Given the description of an element on the screen output the (x, y) to click on. 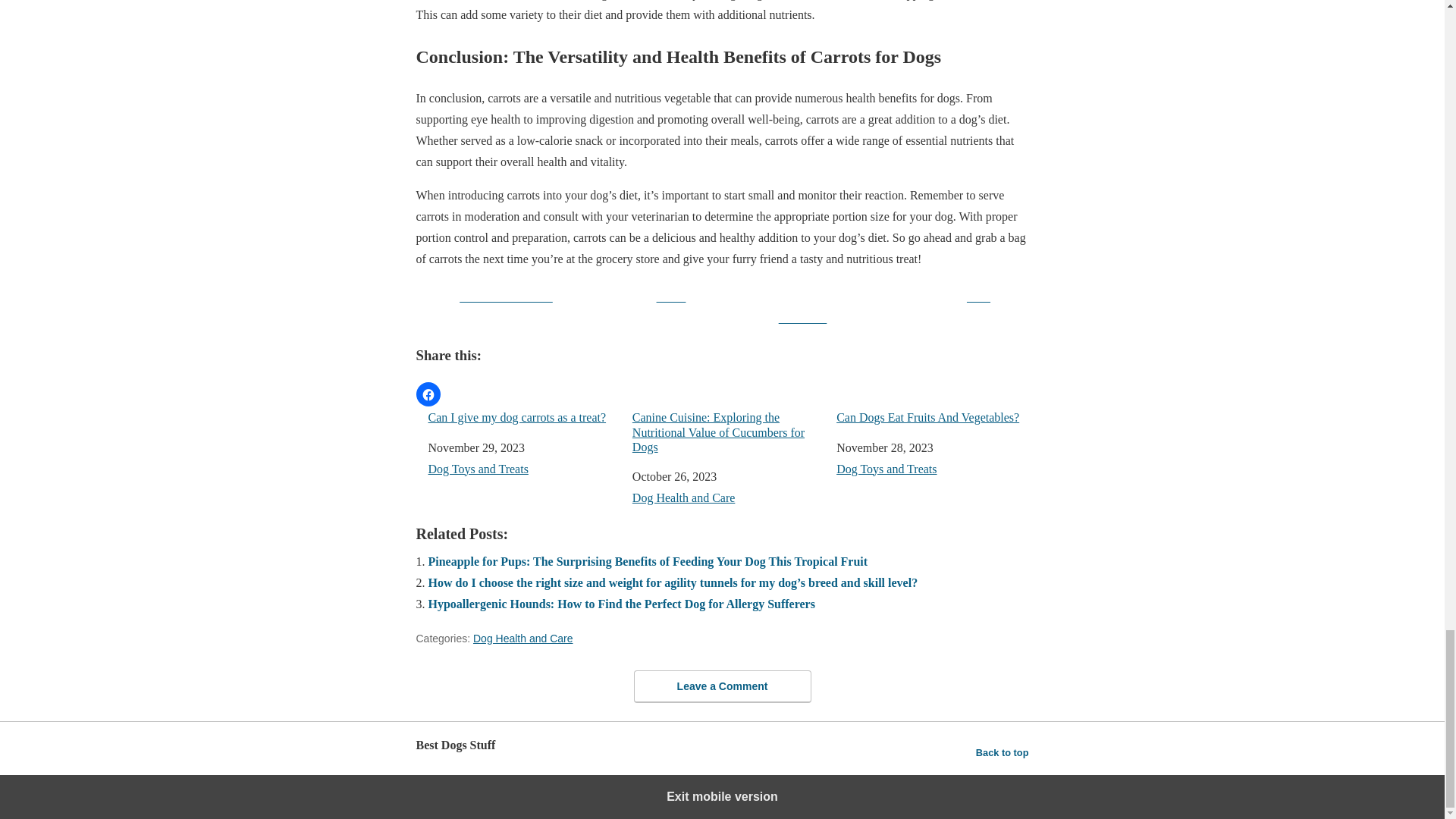
Dog Health and Care (523, 638)
Share on Facebook (496, 305)
Follow us (802, 305)
Leave a Comment (721, 686)
Back to top (1002, 752)
Can I give my dog carrots as a treat? (524, 417)
Can Dogs Eat Fruits And Vegetables? (931, 417)
Dog Toys and Treats (885, 468)
